Given the description of an element on the screen output the (x, y) to click on. 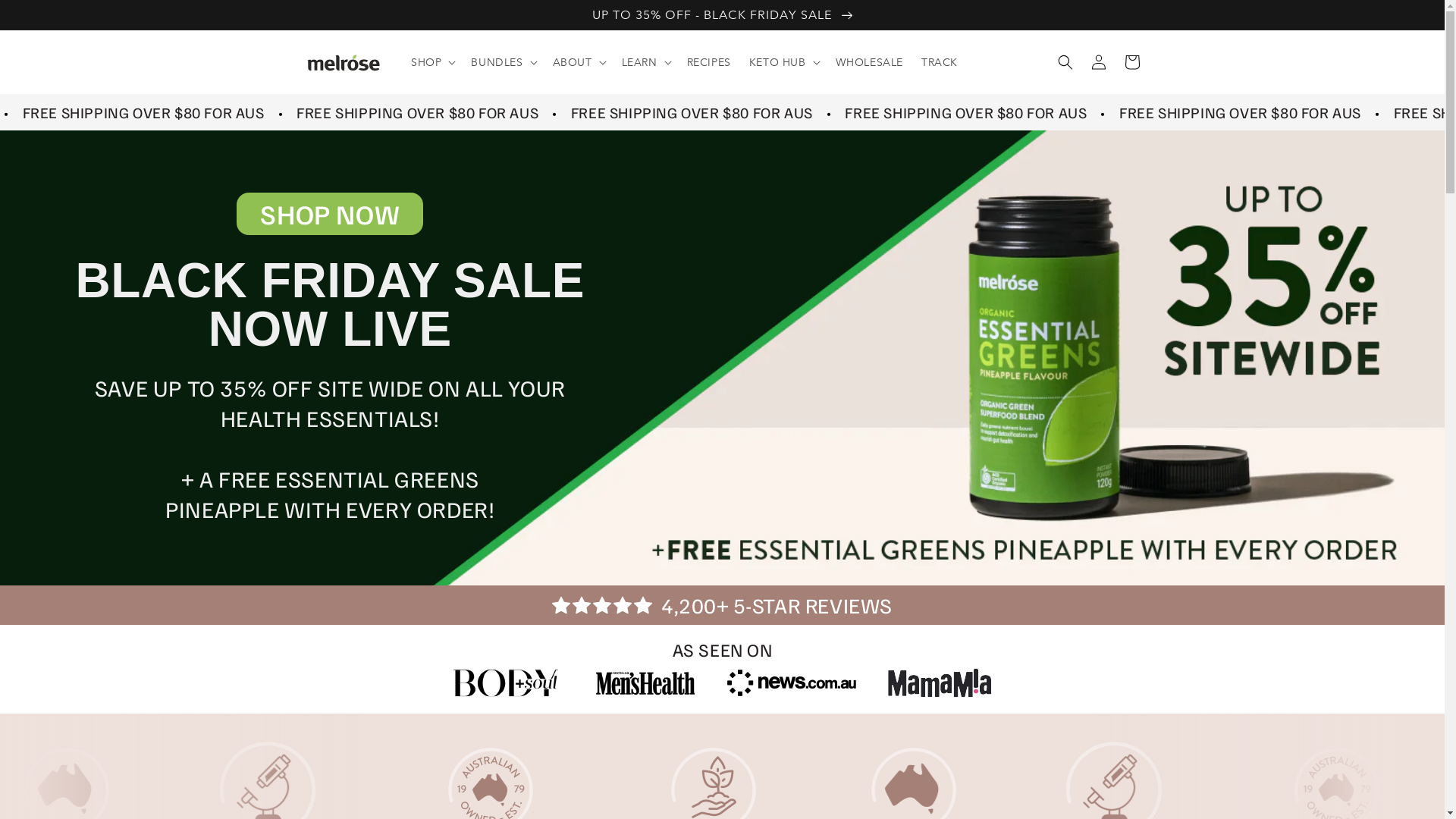
Log in Element type: text (1097, 61)
SHOP NOW Element type: text (329, 213)
Cart Element type: text (1131, 61)
UP TO 35% OFF - BLACK FRIDAY SALE Element type: text (722, 14)
WHOLESALE Element type: text (869, 62)
TRACK Element type: text (939, 62)
RECIPES Element type: text (708, 62)
